Given the description of an element on the screen output the (x, y) to click on. 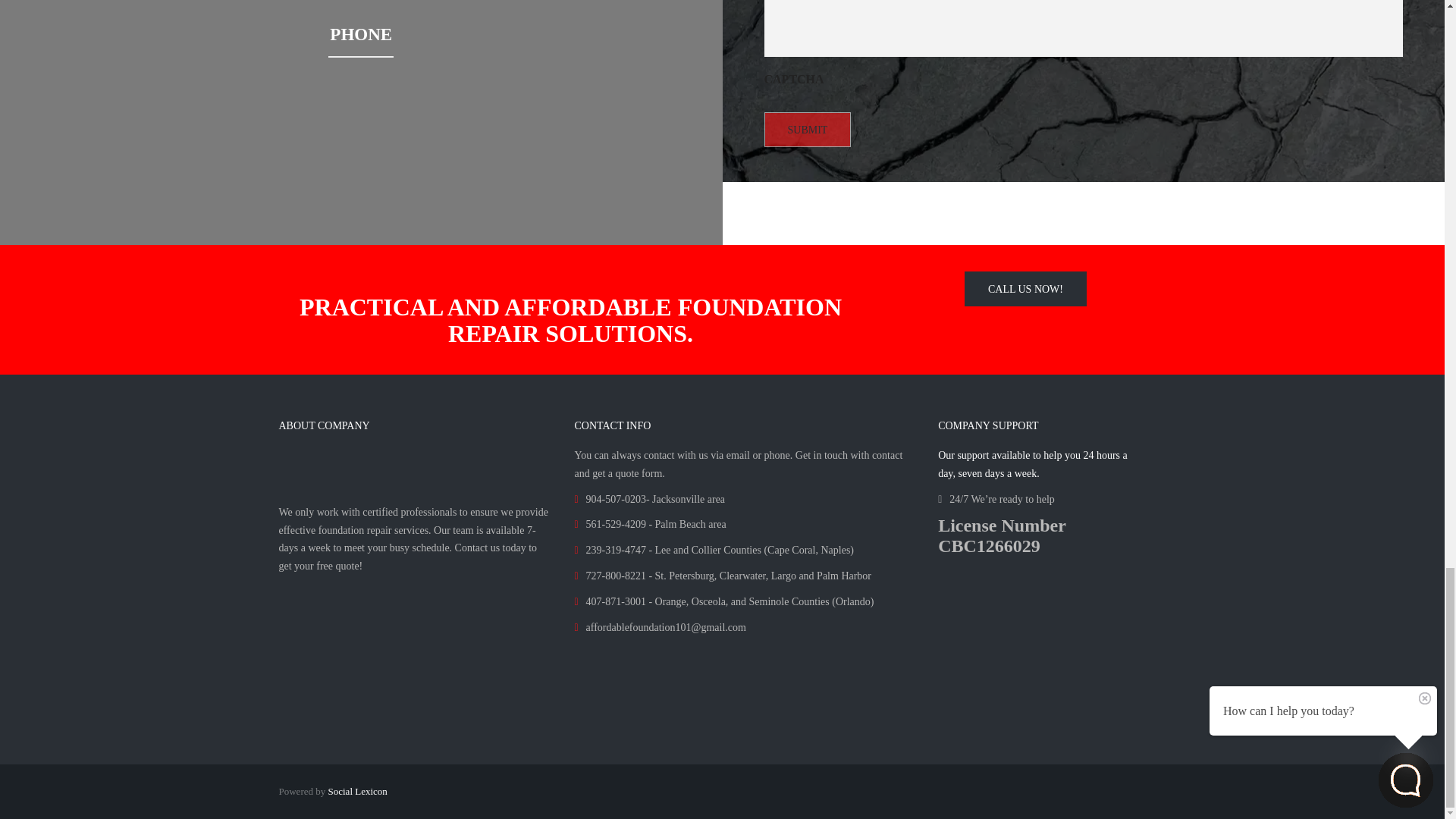
Submit (807, 129)
